Given the description of an element on the screen output the (x, y) to click on. 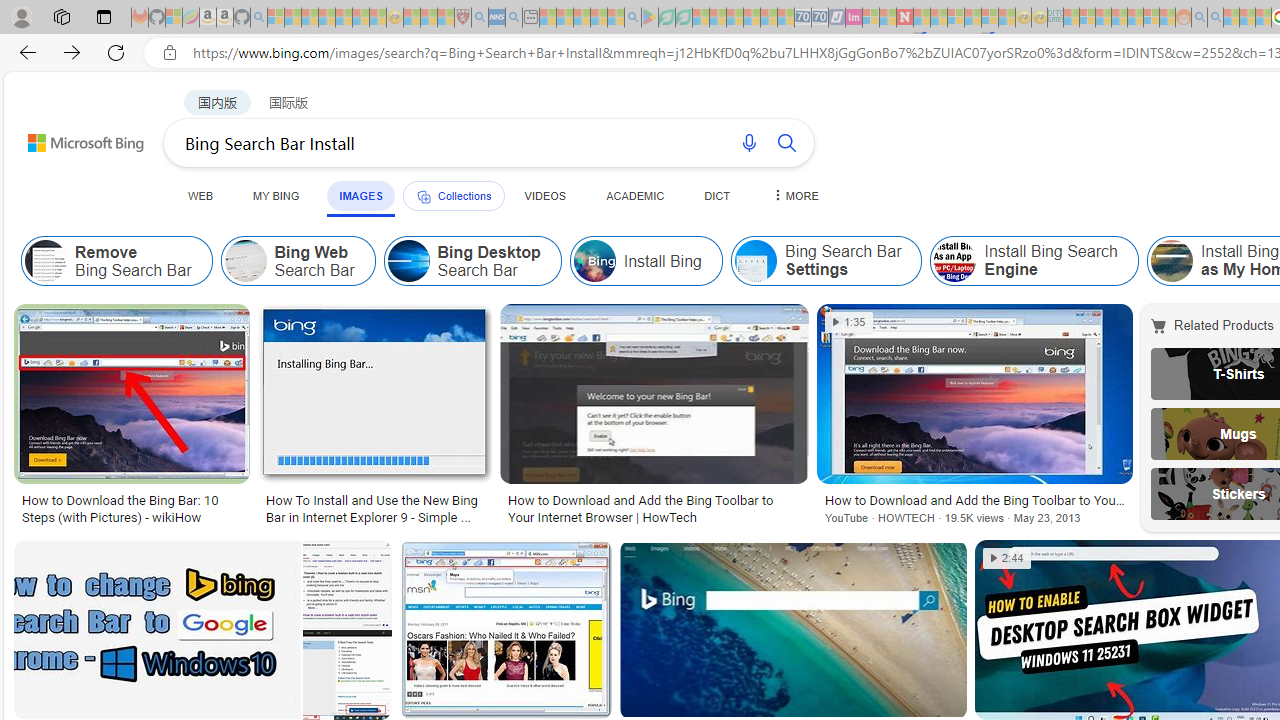
Install Bing Search Engine (955, 260)
MORE (793, 195)
Back to Bing search (73, 138)
Class: item col (1034, 260)
